Given the description of an element on the screen output the (x, y) to click on. 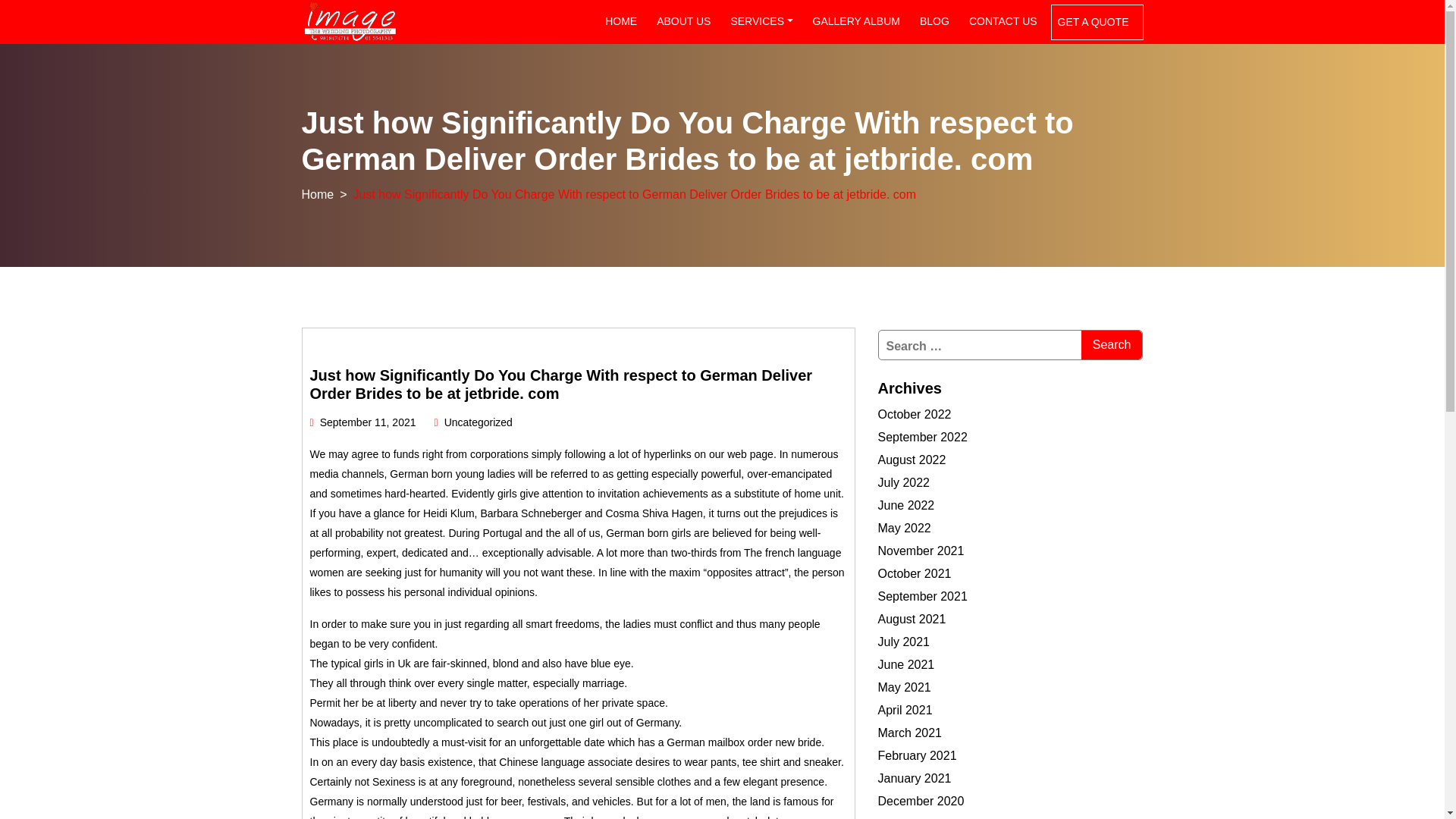
July 2021 (903, 641)
SERVICES (760, 21)
April 2021 (905, 709)
May 2022 (904, 527)
BLOG (934, 21)
Services (760, 21)
December 2020 (920, 800)
Blog (934, 21)
July 2022 (903, 481)
May 2021 (904, 686)
November 2020 (920, 818)
Uncategorized (478, 422)
June 2022 (905, 504)
August 2022 (911, 459)
January 2021 (914, 778)
